Given the description of an element on the screen output the (x, y) to click on. 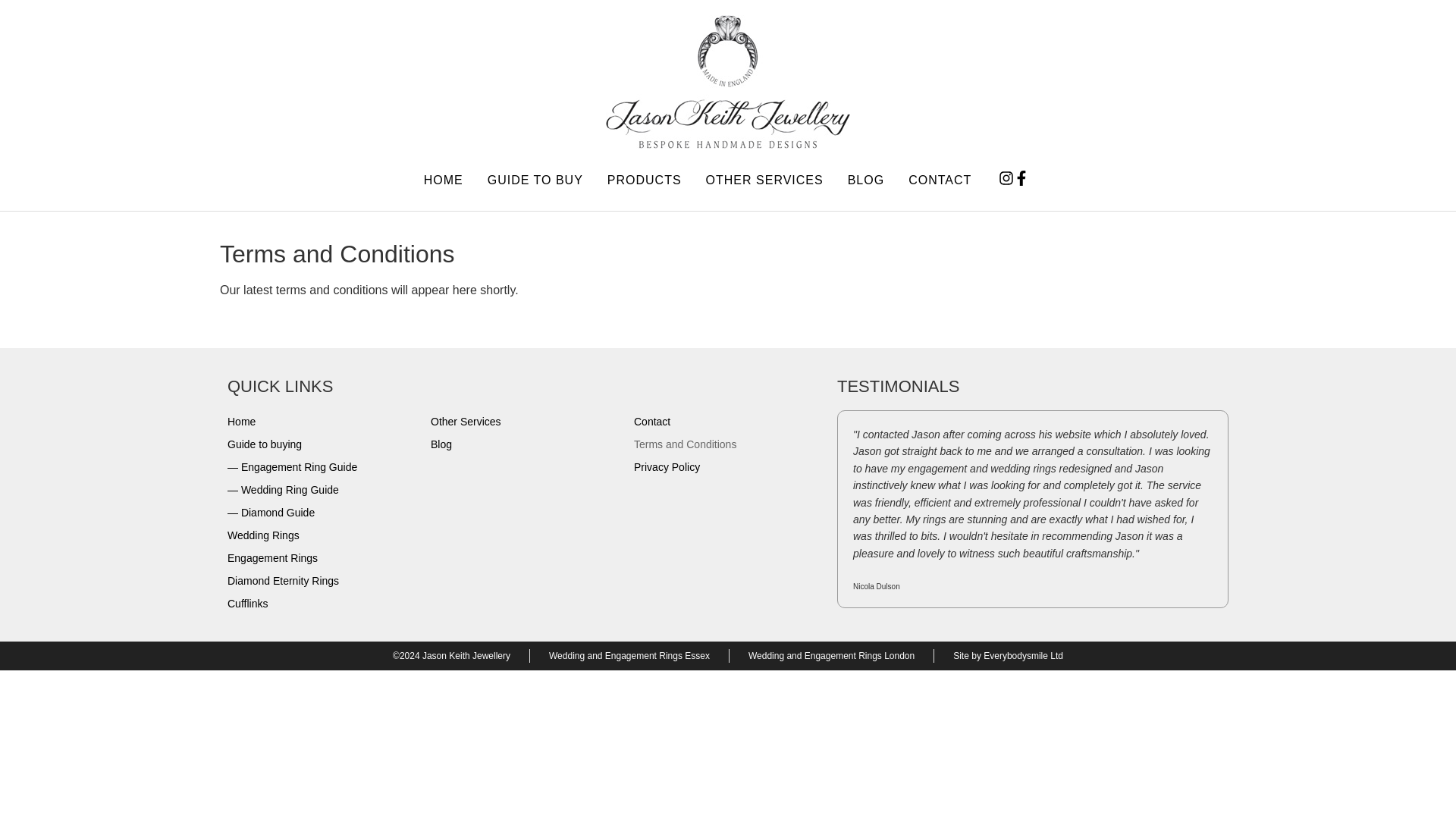
OTHER SERVICES (765, 180)
Wedding Rings (320, 534)
Blog (524, 444)
Wedding and Engagement Rings Essex (629, 655)
Home (320, 421)
Guide to buying (320, 444)
GUIDE TO BUY (535, 180)
HOME (443, 180)
PRODUCTS (644, 180)
Cufflinks (320, 603)
Contact (727, 421)
Engagement Rings (320, 557)
Other Services (524, 421)
BLOG (865, 180)
Diamond Eternity Rings (320, 580)
